Given the description of an element on the screen output the (x, y) to click on. 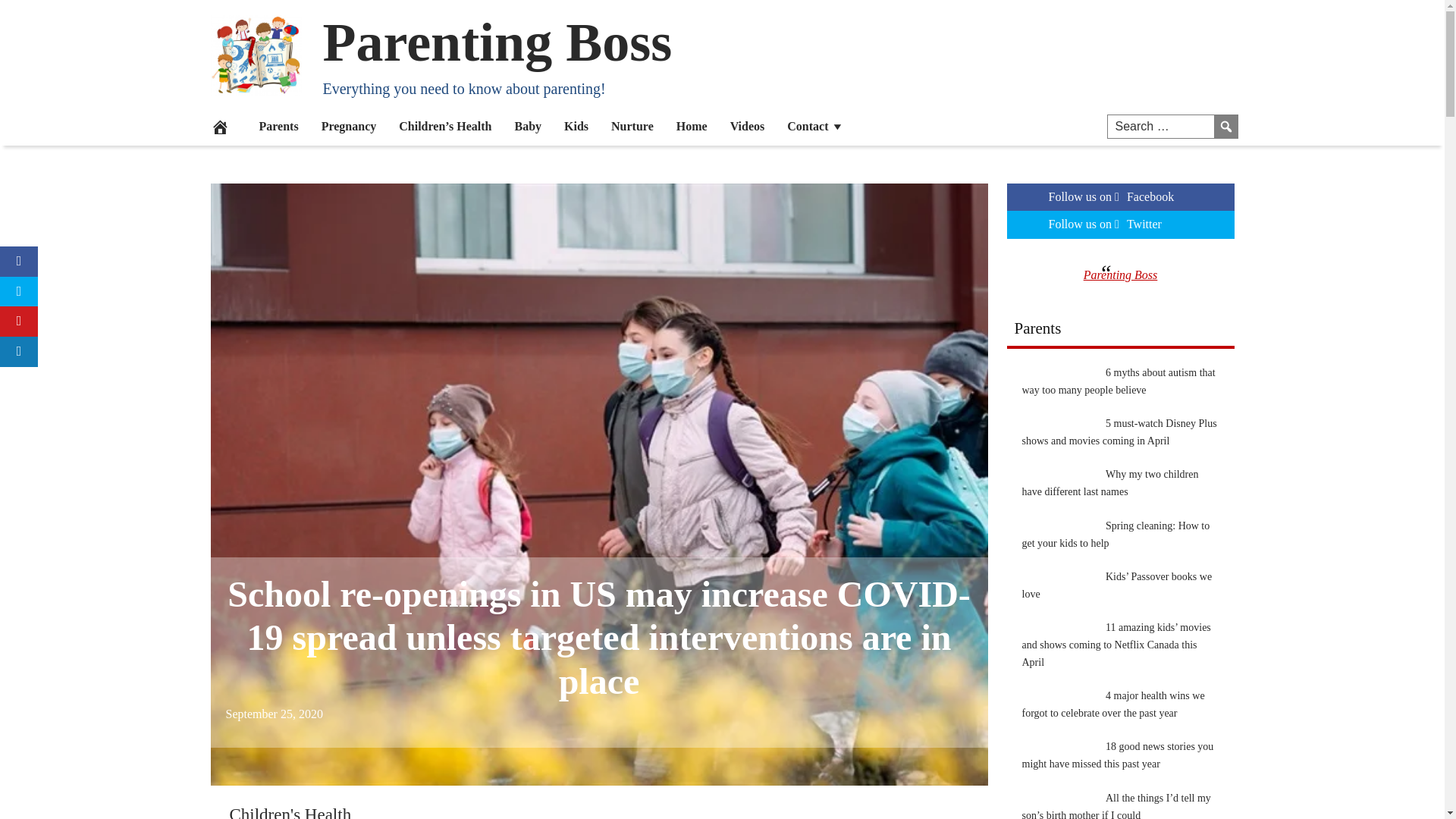
Children's Health (289, 812)
Parenting Boss (497, 42)
Baby (527, 126)
Home (692, 126)
Pregnancy (349, 126)
Kids (576, 126)
Videos (747, 126)
Parents (277, 126)
Nurture (632, 126)
Contact (815, 126)
